Given the description of an element on the screen output the (x, y) to click on. 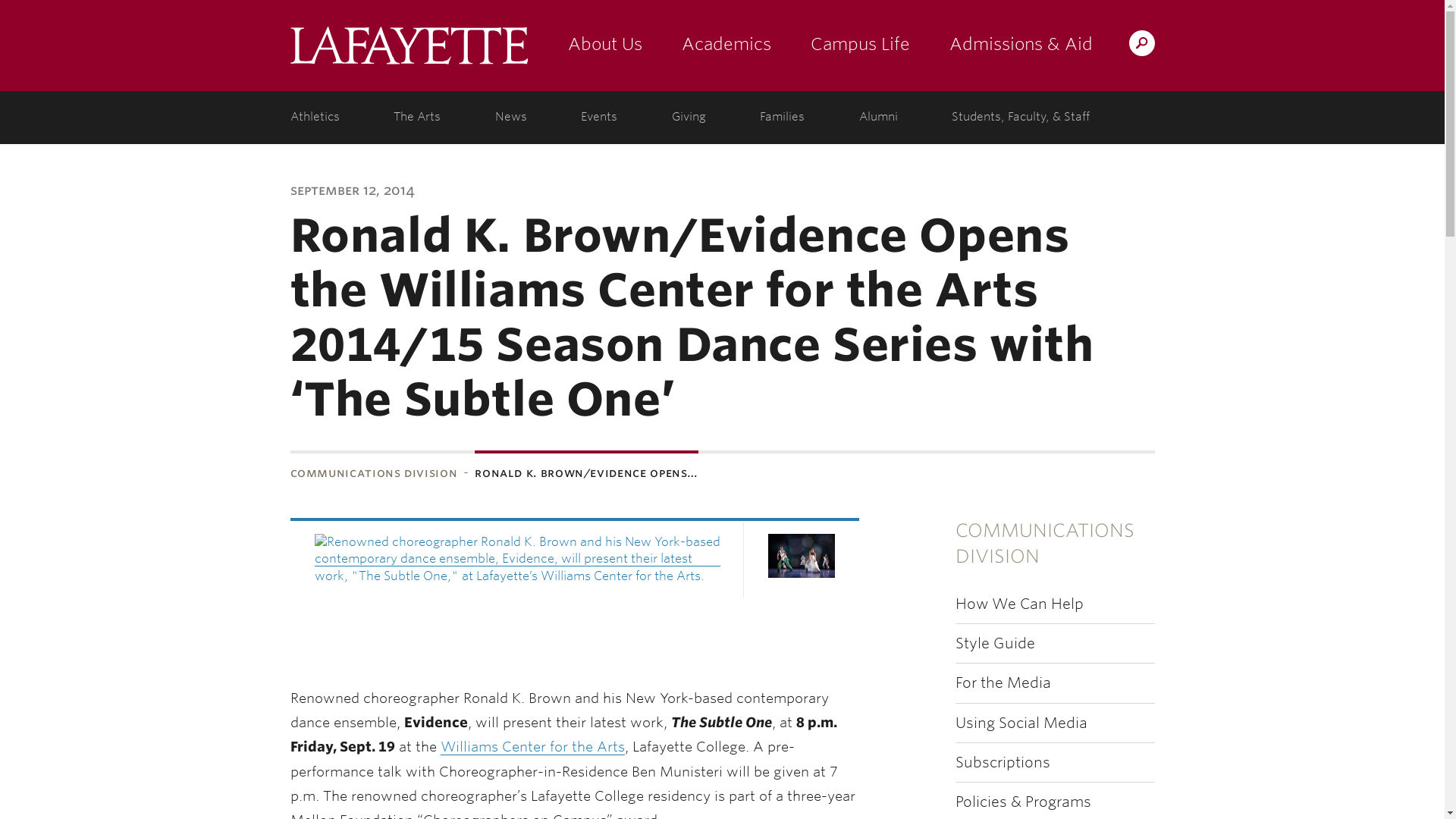
Academics (725, 45)
Search Lafayette.edu (1141, 43)
Lafayette College (408, 45)
About Us (603, 45)
Search (842, 42)
Campus Life (859, 45)
